Given the description of an element on the screen output the (x, y) to click on. 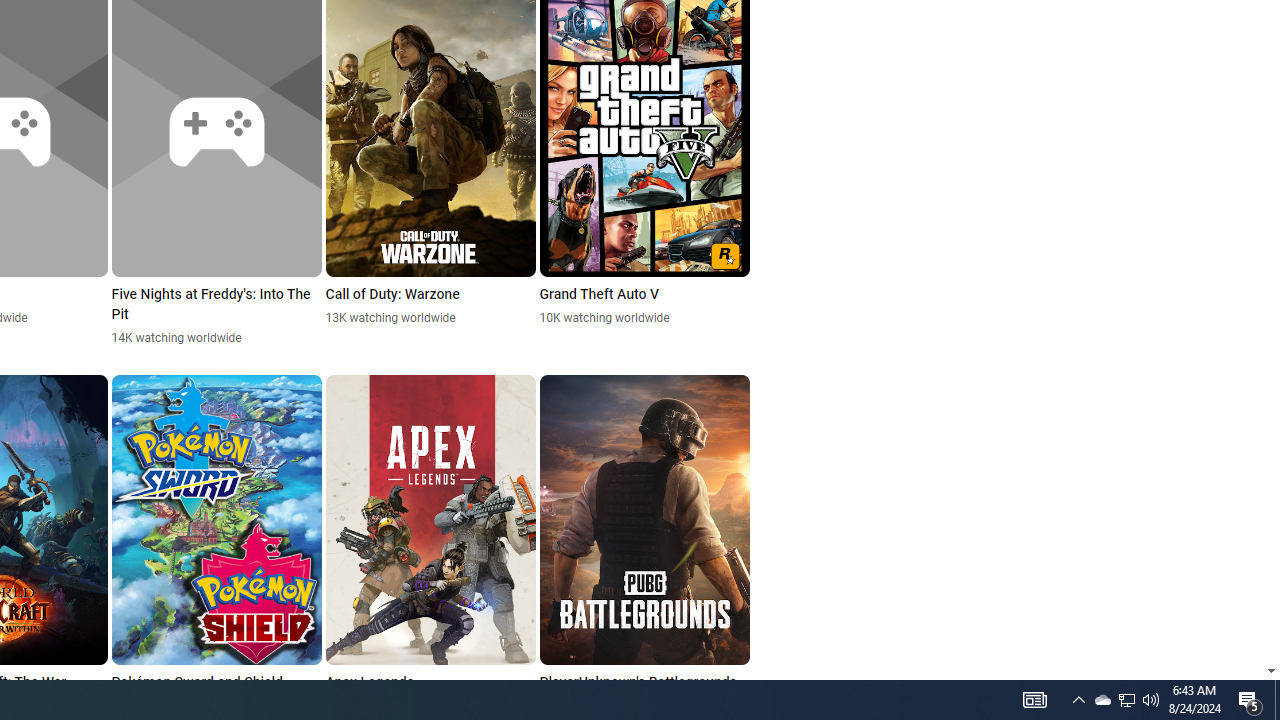
PlayerUnknown's Battlegrounds 5K watching worldwide (644, 544)
Apex Legends 5.2K watching worldwide (430, 544)
